Given the description of an element on the screen output the (x, y) to click on. 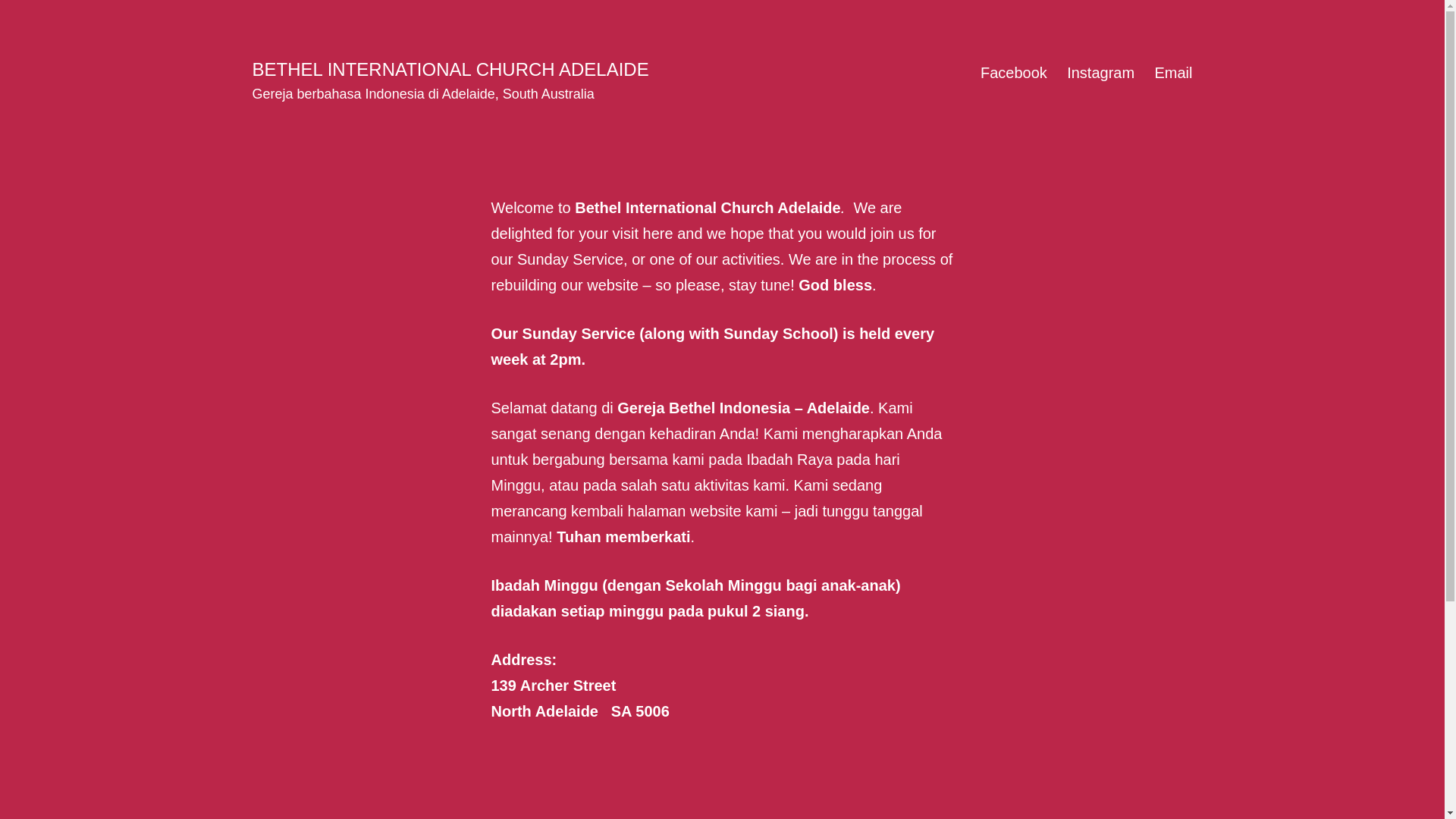
Email Element type: text (1172, 72)
Instagram Element type: text (1100, 72)
Facebook Element type: text (1013, 72)
